Given the description of an element on the screen output the (x, y) to click on. 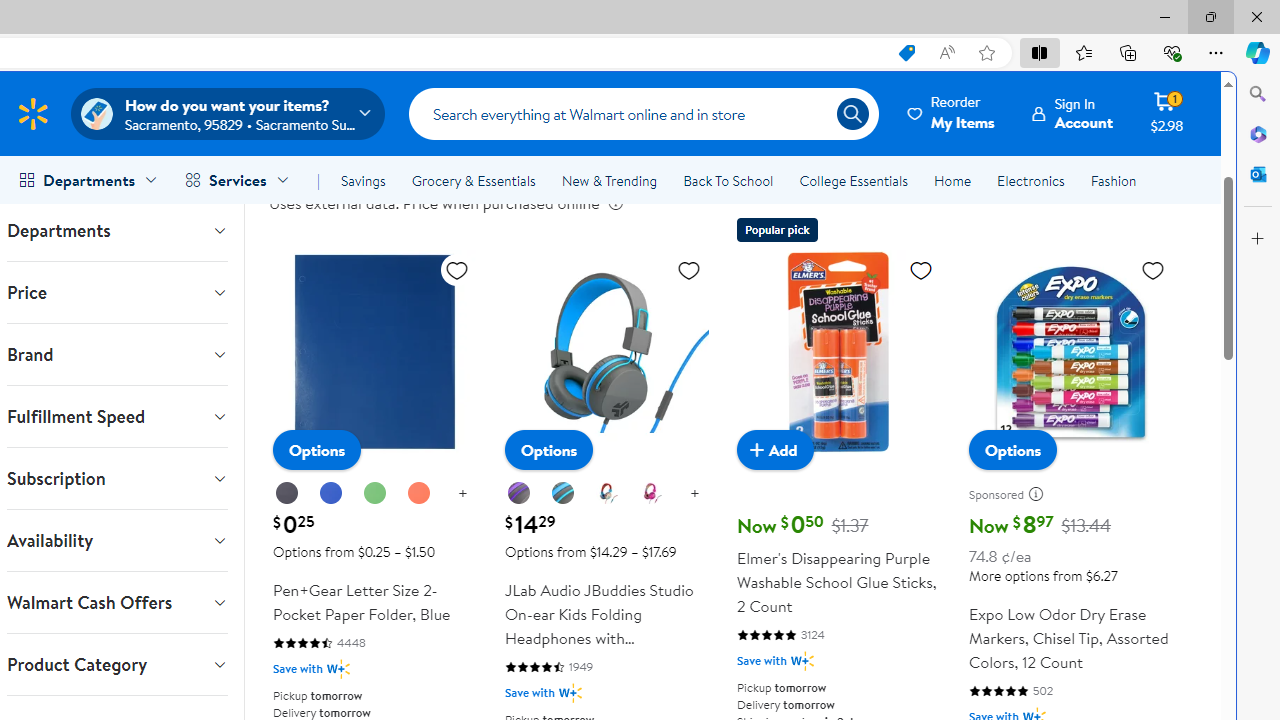
Ad disclaimer and feedback (1040, 494)
Multicolor (606, 493)
Close Search pane (1258, 94)
Fashion (1113, 180)
Reorder My Items (952, 113)
